Given the description of an element on the screen output the (x, y) to click on. 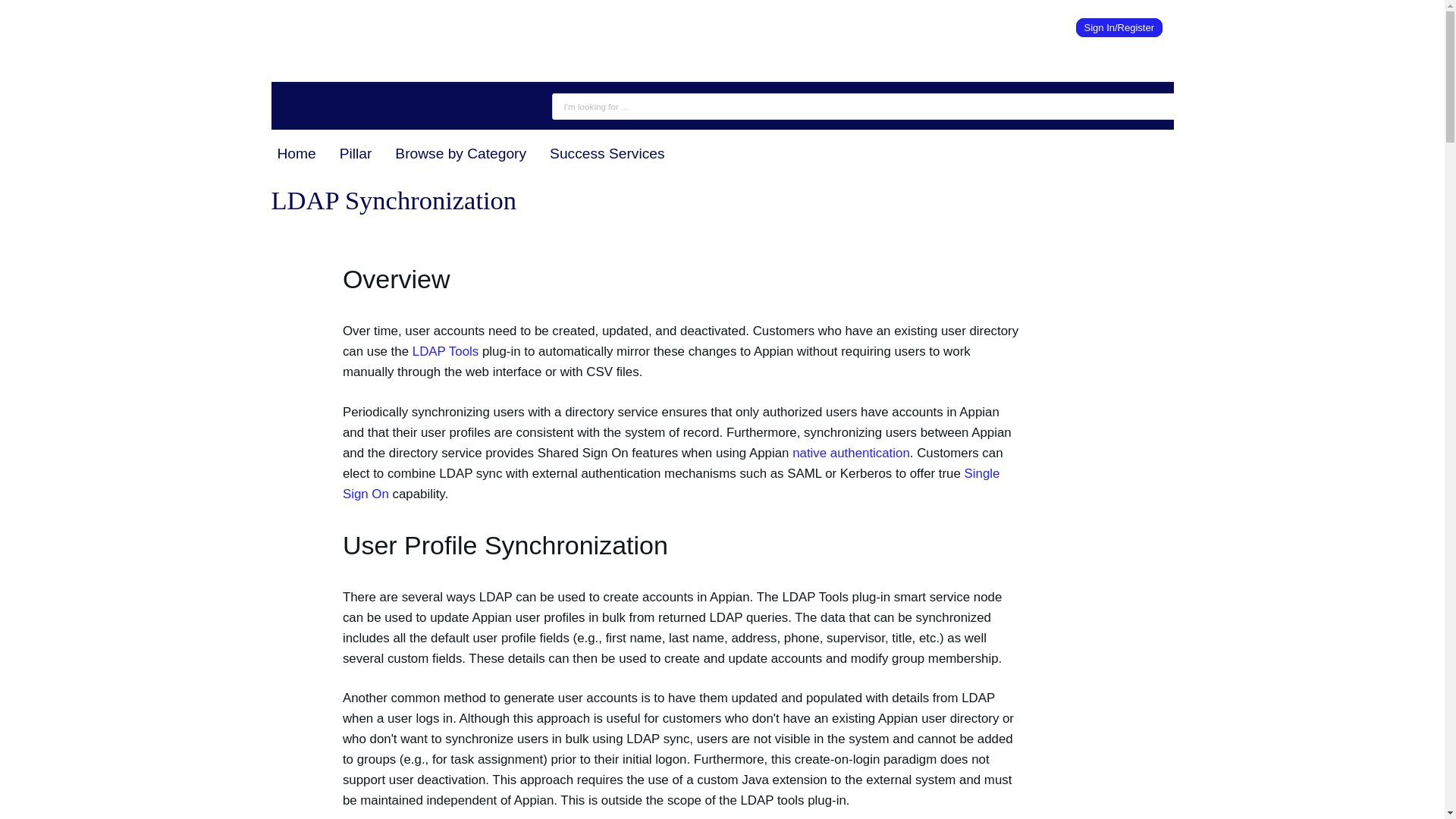
LDAP Tools (445, 350)
Browse by Category (460, 153)
Join or Sign In (1118, 27)
native authentication (851, 452)
Success Services (606, 153)
Home (369, 27)
Single Sign On (671, 483)
Pillar (355, 153)
Home (296, 153)
